Given the description of an element on the screen output the (x, y) to click on. 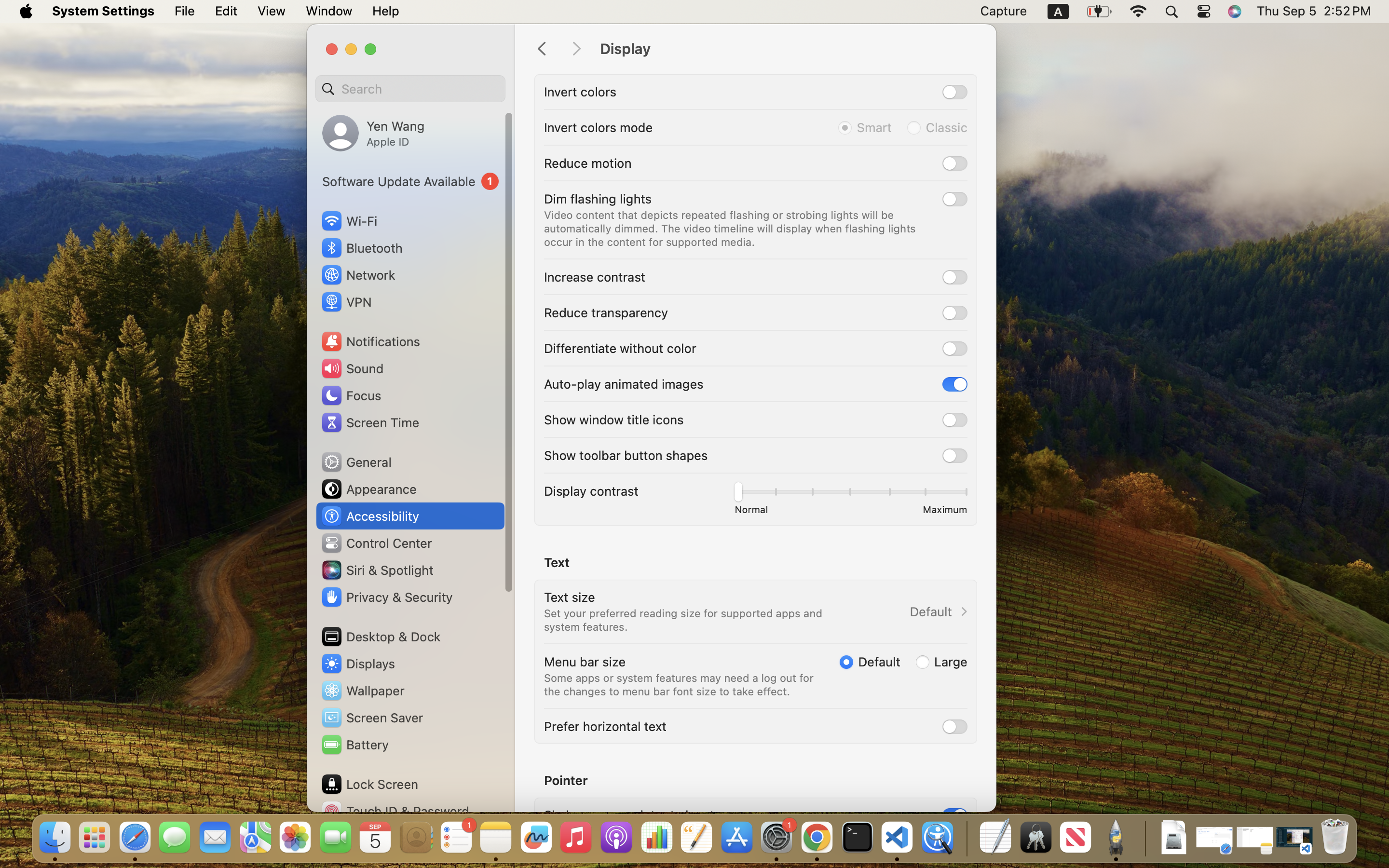
Battery Element type: AXStaticText (354, 744)
